Given the description of an element on the screen output the (x, y) to click on. 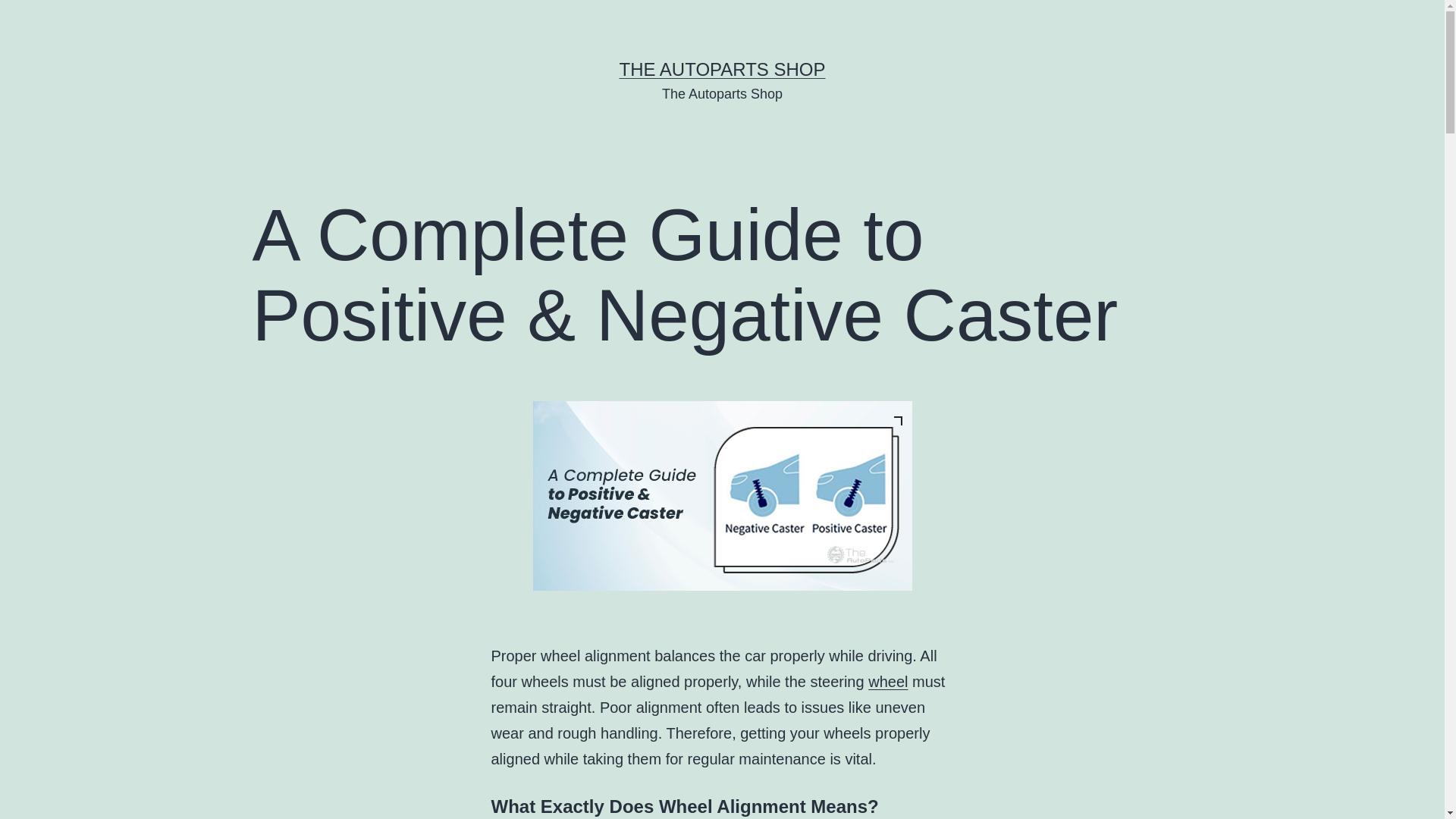
wheel (887, 681)
THE AUTOPARTS SHOP (721, 68)
